Given the description of an element on the screen output the (x, y) to click on. 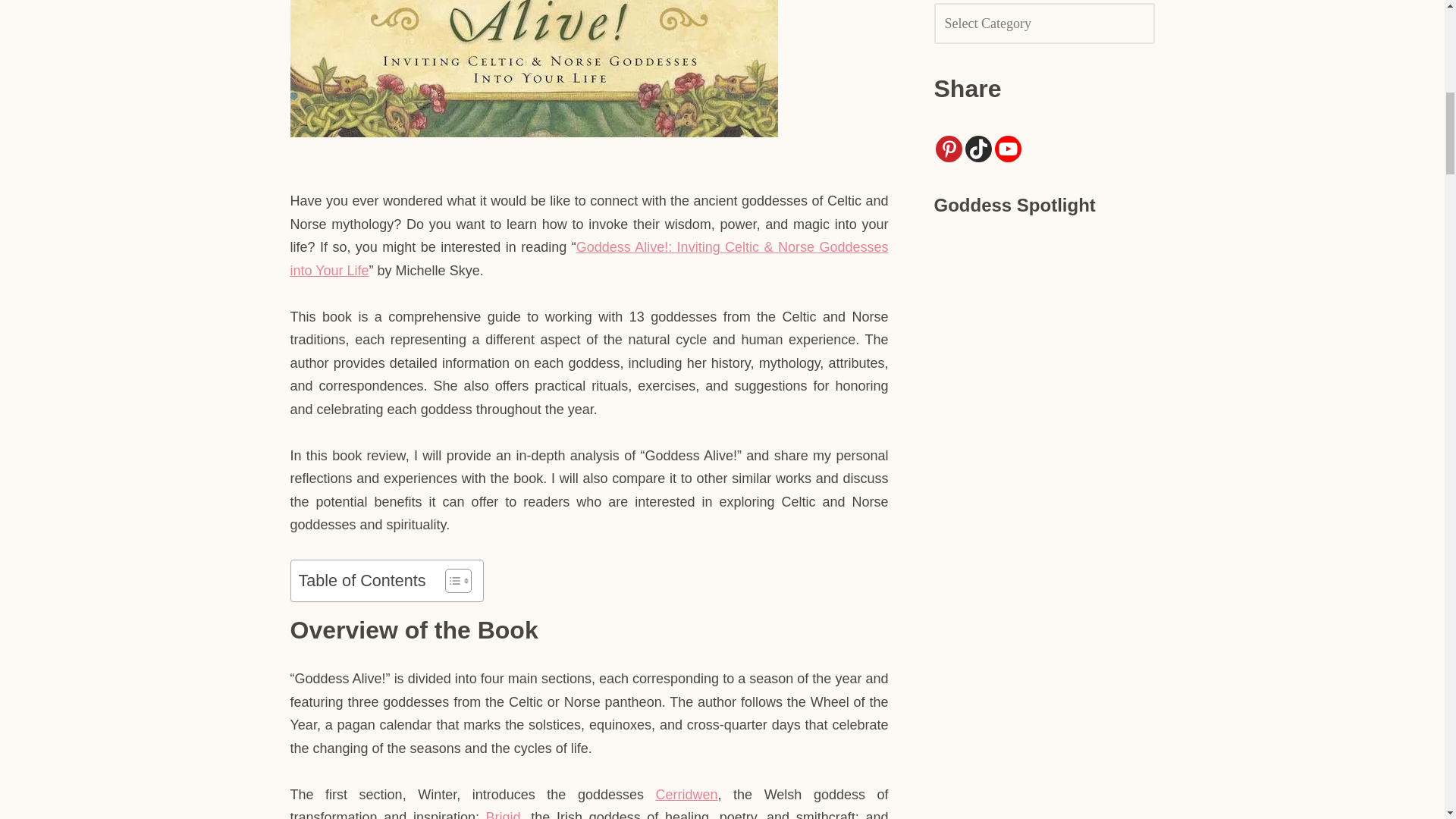
TikTok (977, 148)
Youtube Channel (1008, 148)
Pinterest (949, 148)
